Given the description of an element on the screen output the (x, y) to click on. 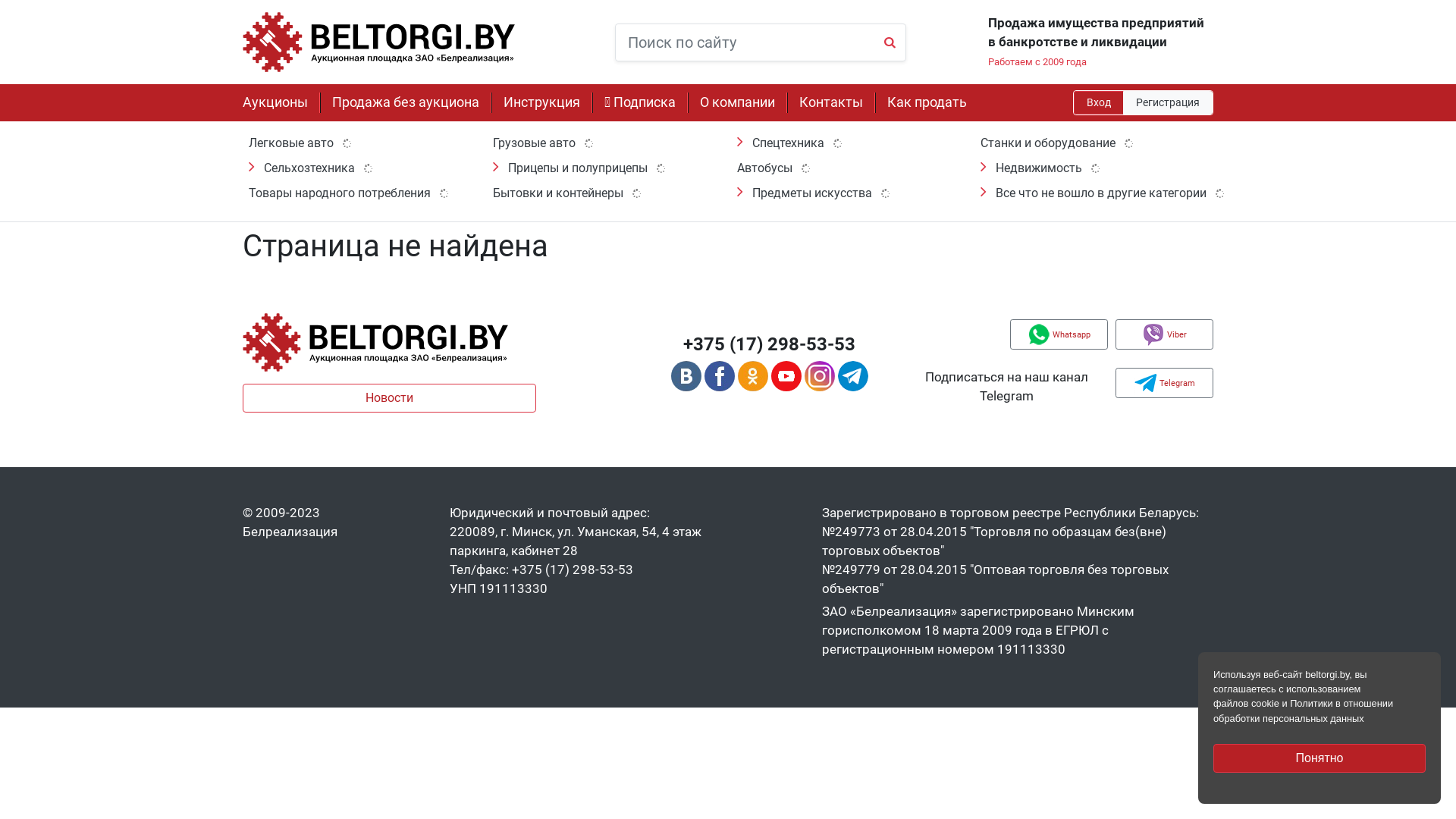
Telegram Element type: text (1164, 382)
Viber Element type: text (1164, 334)
Whatsapp Element type: text (1058, 334)
